Given the description of an element on the screen output the (x, y) to click on. 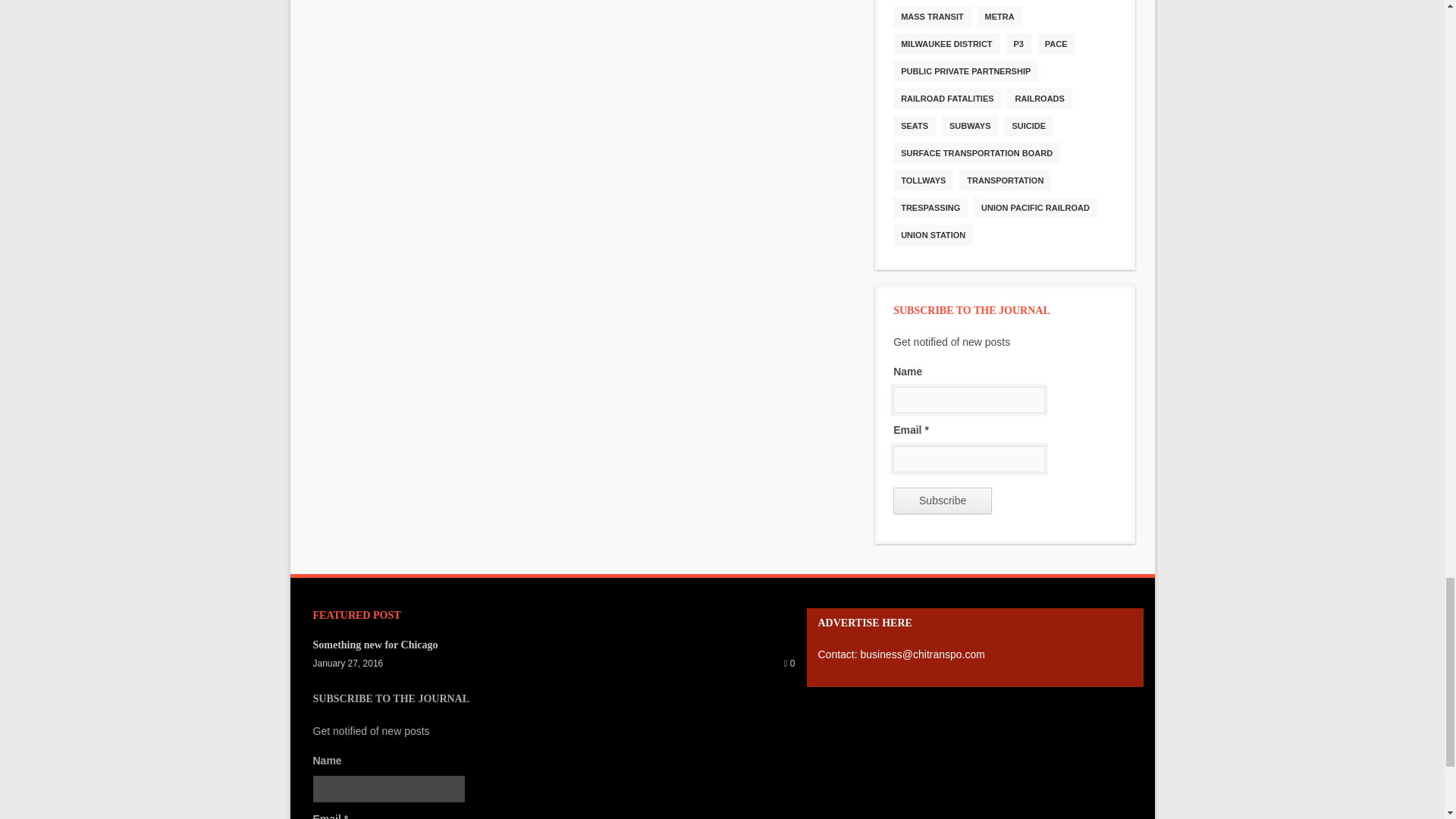
Subscribe (942, 500)
3:55 pm (347, 663)
